Given the description of an element on the screen output the (x, y) to click on. 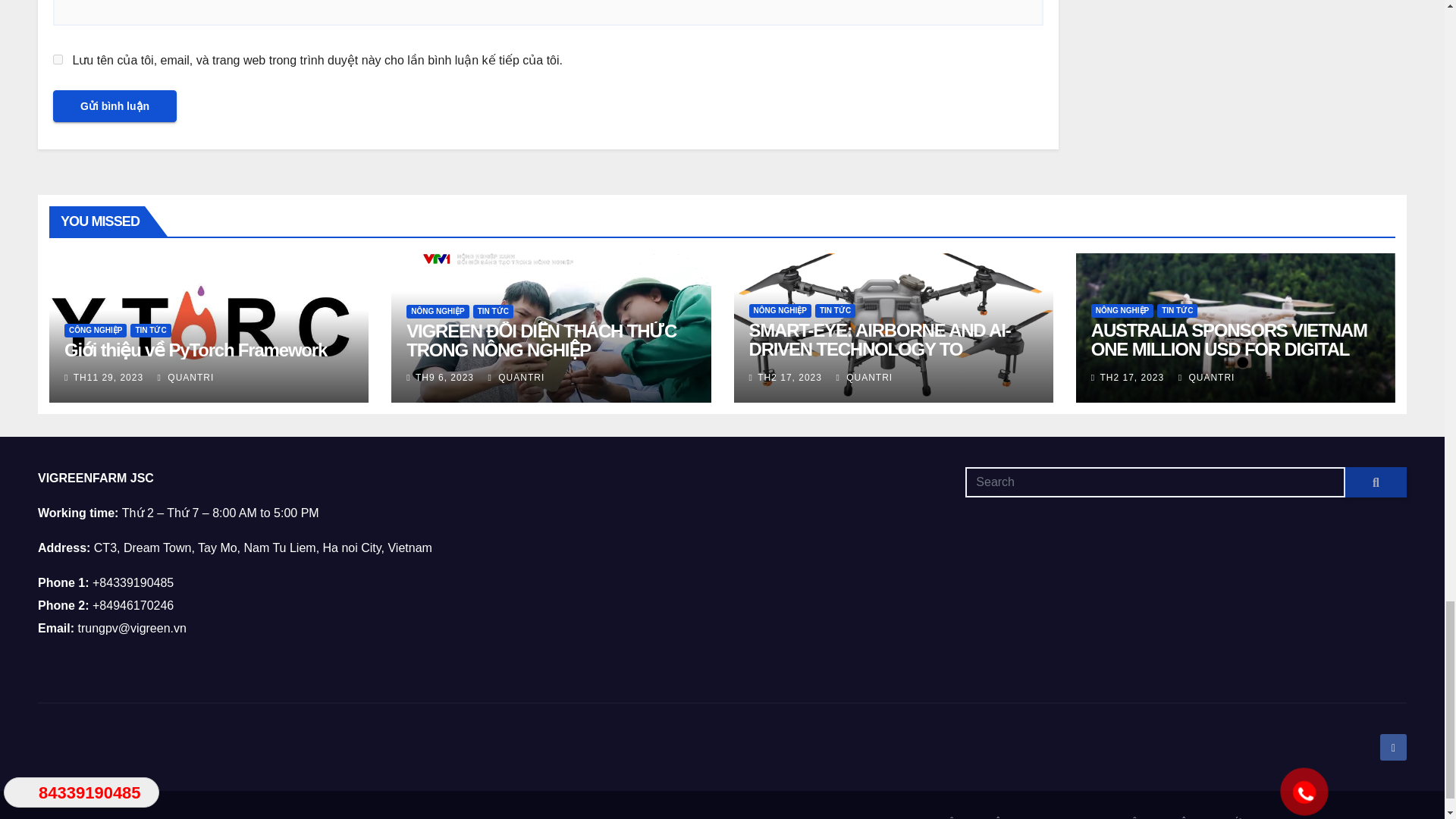
yes (57, 59)
